Given the description of an element on the screen output the (x, y) to click on. 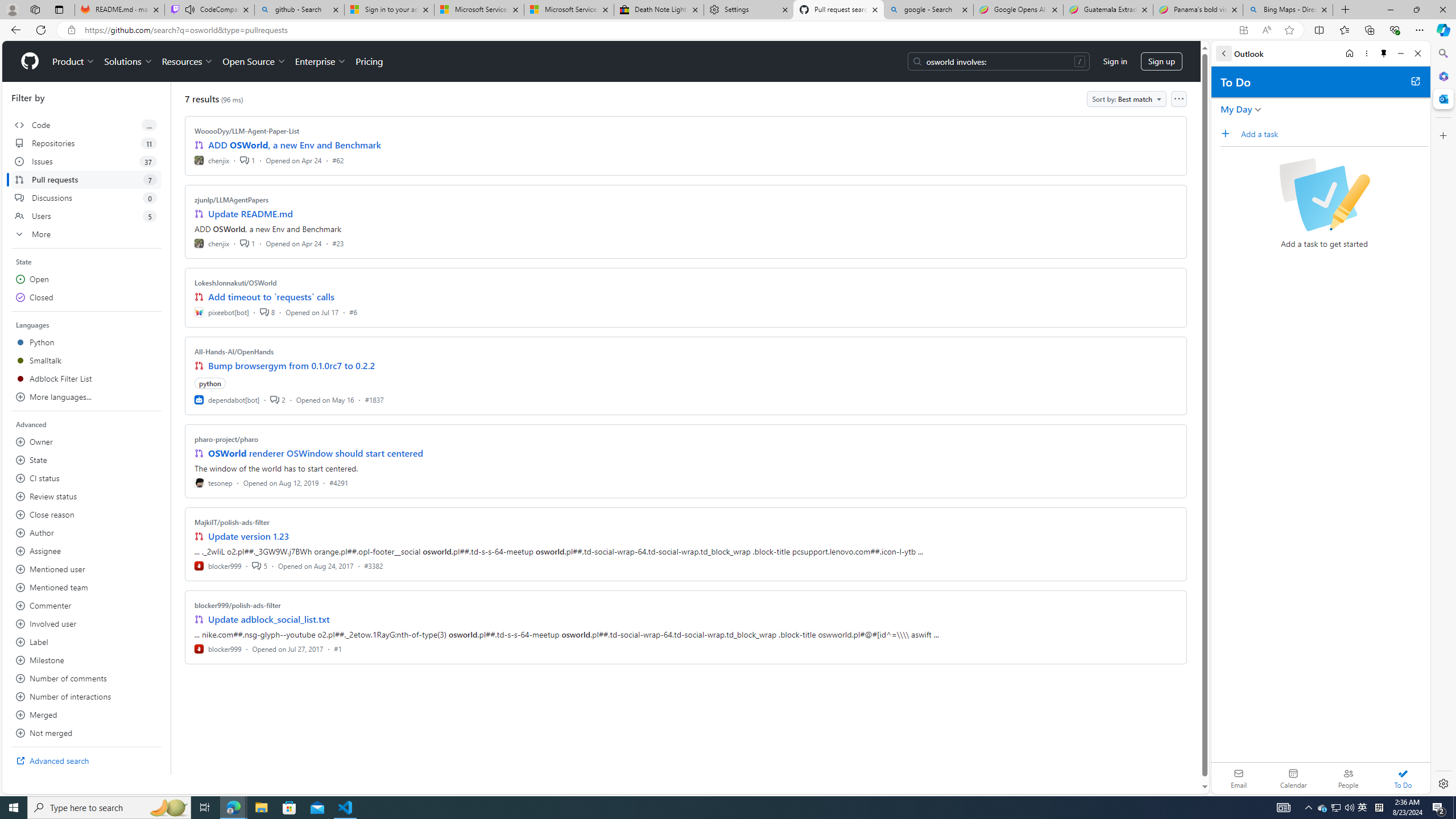
Add a task (1228, 133)
#1 (337, 648)
Enterprise (319, 60)
#1837 (374, 398)
WooooDyy/LLM-Agent-Paper-List (247, 130)
Advanced search (86, 760)
Unpin side pane (1383, 53)
